Given the description of an element on the screen output the (x, y) to click on. 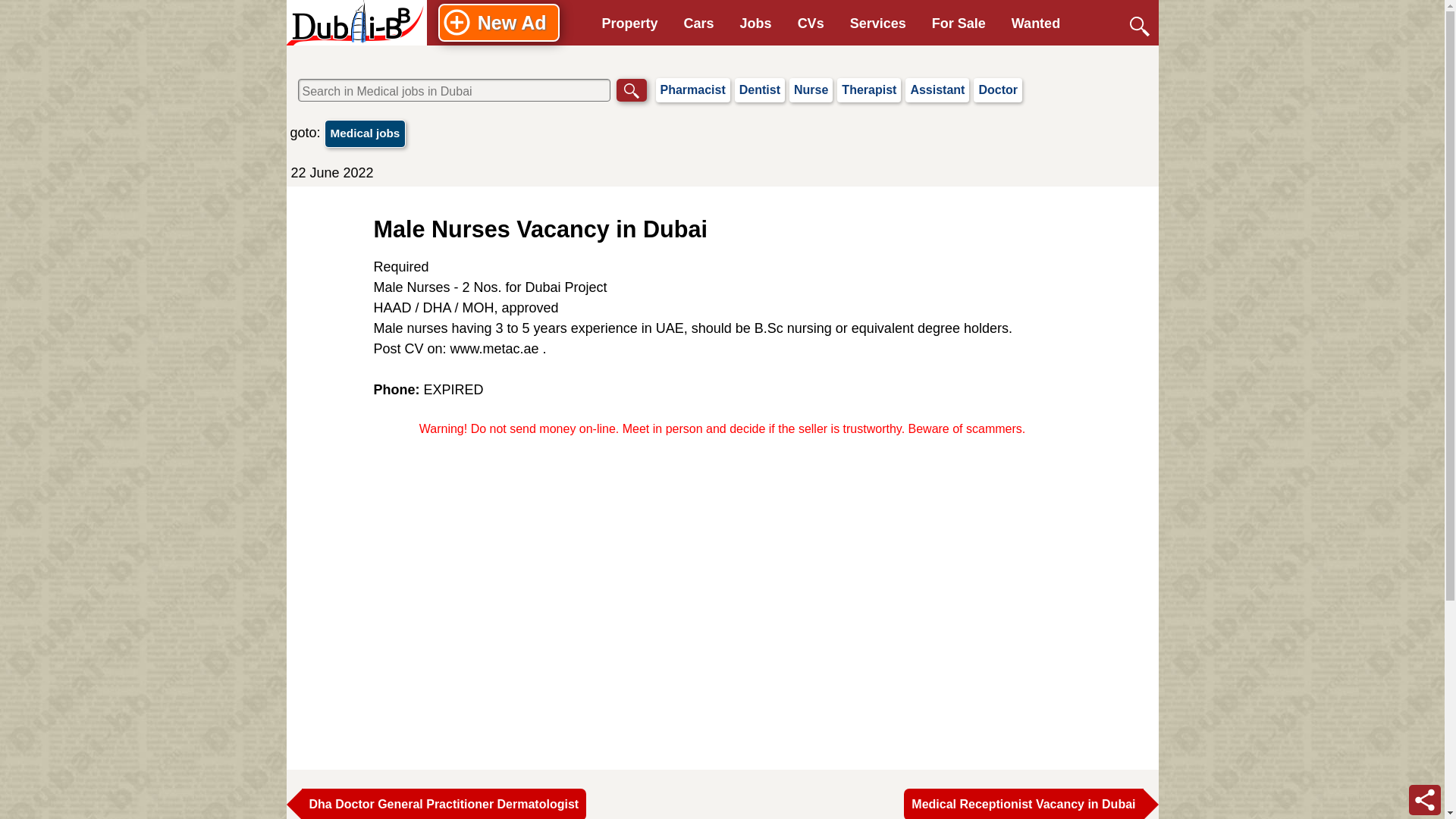
Medical jobs in Dubai, United Arab Emirates (365, 133)
Dubai Bulletin Board - The Dubai Classifieds (356, 22)
Create a new advert on Dubai-BB FREE (498, 22)
